Given the description of an element on the screen output the (x, y) to click on. 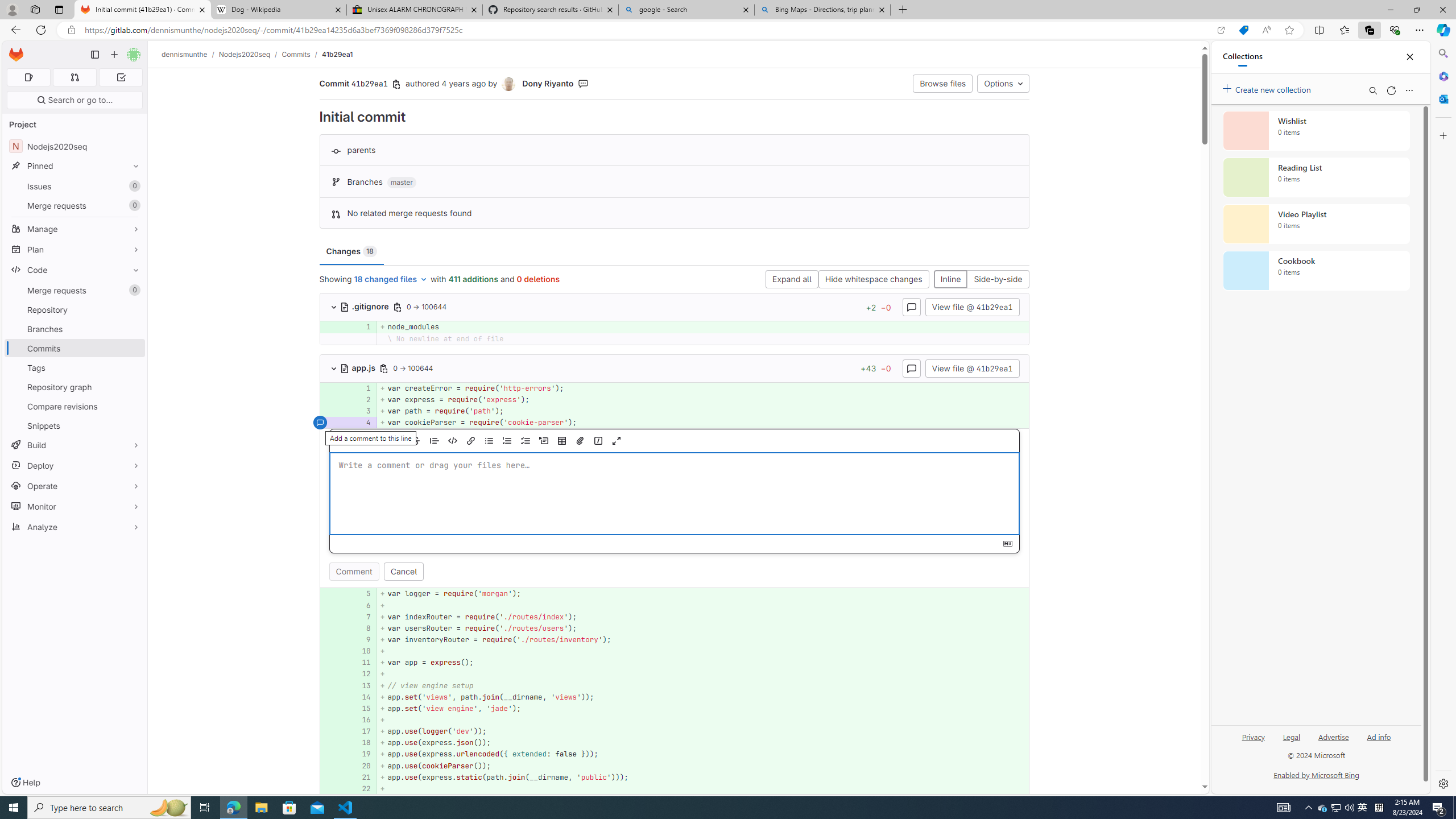
14 (360, 696)
AutomationID: 4a68969ef8e858229267b842dedf42ab5dde4d50_0_12 (674, 674)
7 (360, 616)
11 (362, 662)
dennismunthe (184, 53)
+ var express = require('express');  (703, 399)
21 (362, 776)
+ var cookieParser = require('cookie-parser');  (703, 422)
Operate (74, 485)
Dony Riyanto (547, 83)
Class: s12 (319, 787)
